Given the description of an element on the screen output the (x, y) to click on. 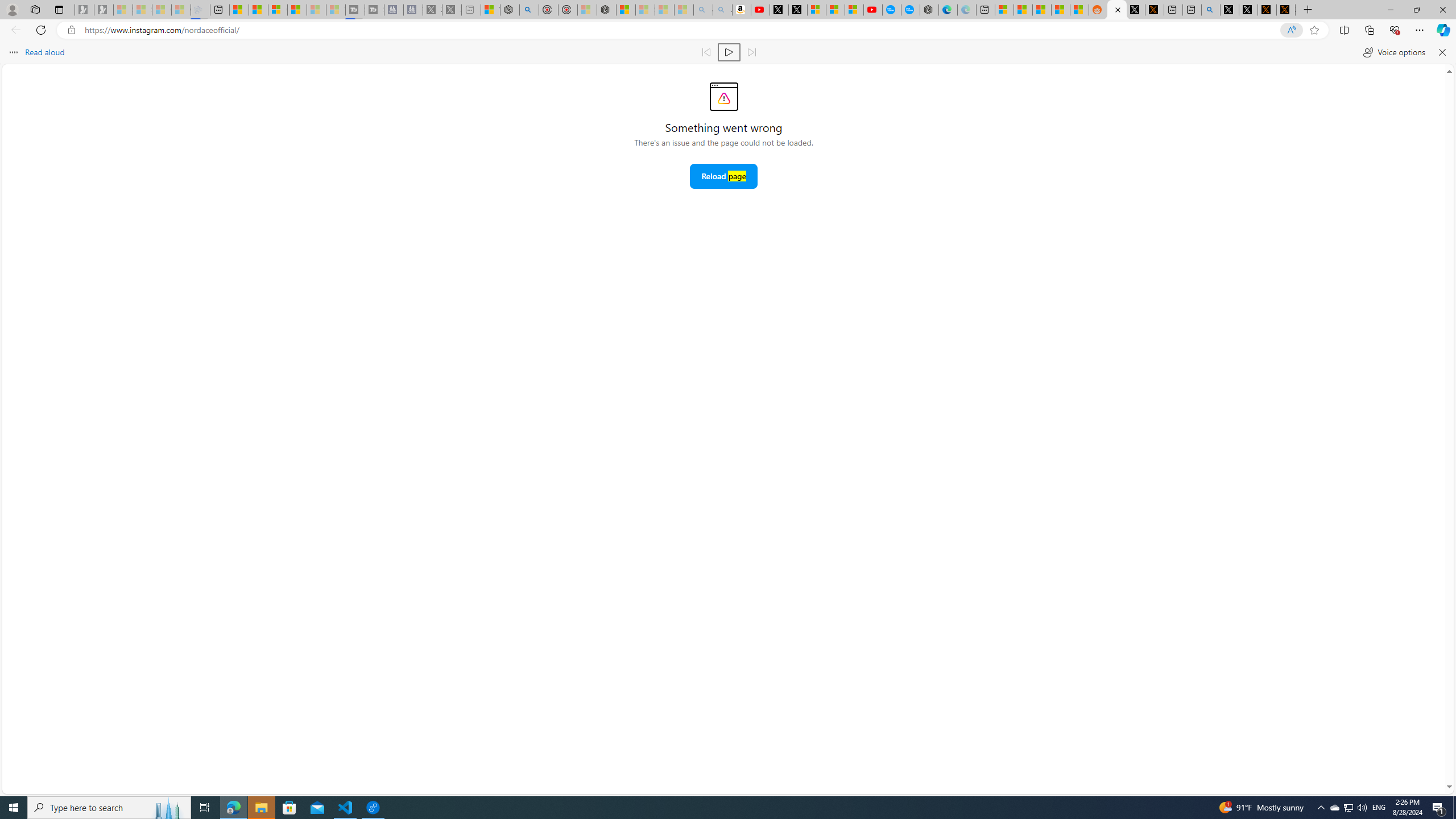
Wildlife - MSN (490, 9)
Amazon Echo Dot PNG - Search Images - Sleeping (721, 9)
Voice options (1393, 52)
Shanghai, China Weather trends | Microsoft Weather (1079, 9)
Read previous paragraph (705, 52)
Opinion: Op-Ed and Commentary - USA TODAY (891, 9)
